Given the description of an element on the screen output the (x, y) to click on. 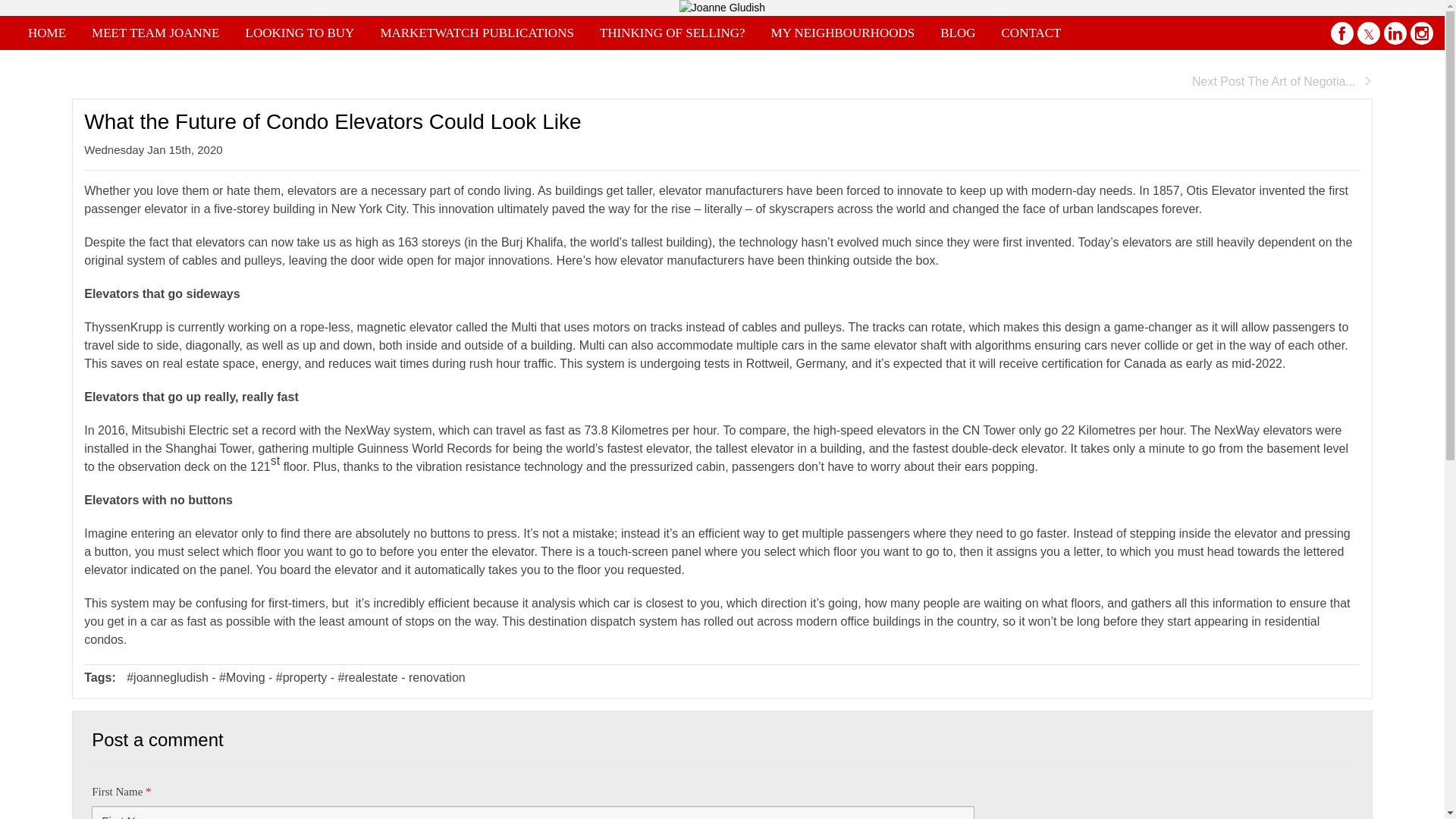
MEET TEAM JOANNE (154, 32)
HOME (46, 32)
